Given the description of an element on the screen output the (x, y) to click on. 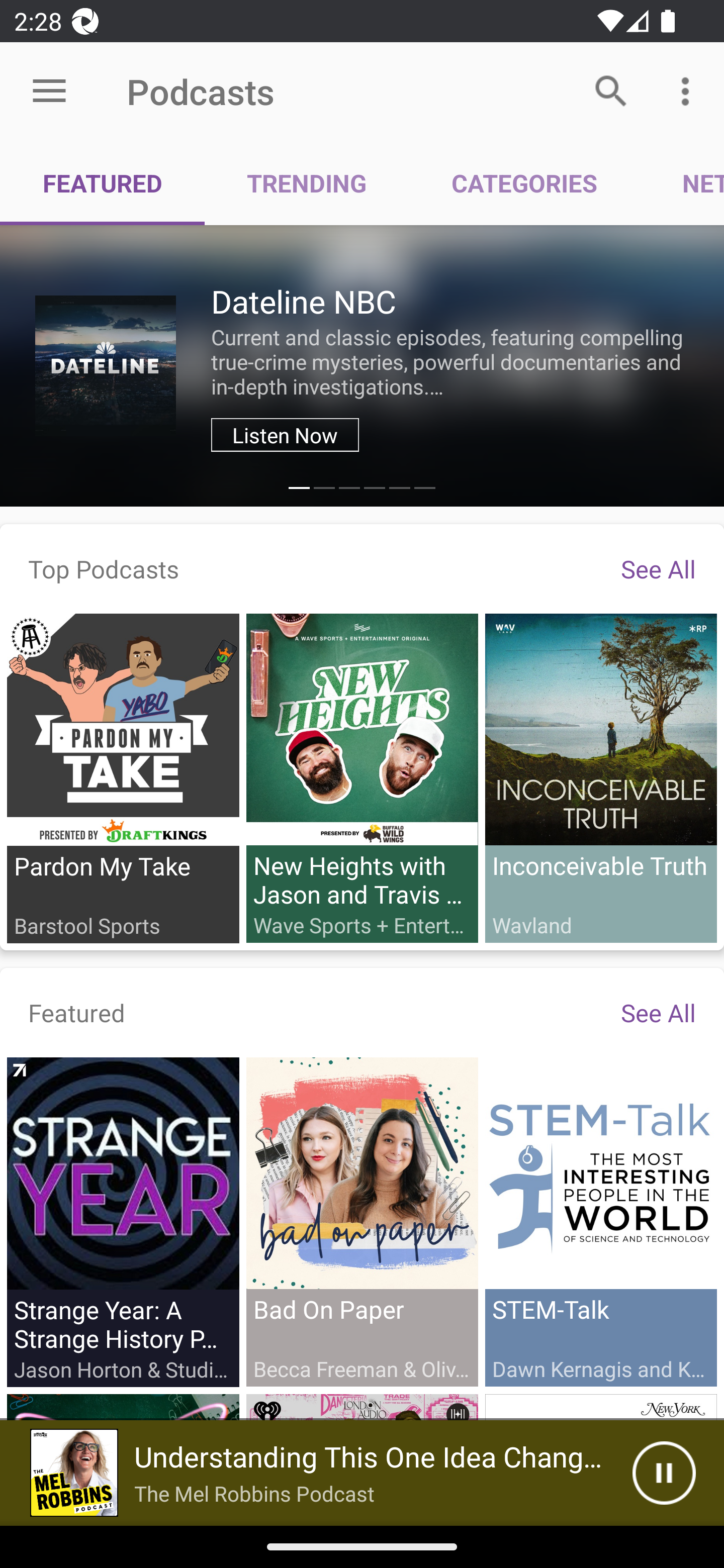
Open menu (49, 91)
Search (611, 90)
More options (688, 90)
FEATURED (102, 183)
TRENDING (306, 183)
CATEGORIES (524, 183)
Top Podcasts (103, 567)
See All (658, 567)
Pardon My Take Barstool Sports (123, 778)
Inconceivable Truth Wavland (600, 777)
Featured (76, 1011)
See All (658, 1011)
Bad On Paper Becca Freeman & Olivia Muenter (361, 1221)
STEM-Talk Dawn Kernagis and Ken Ford (600, 1221)
Pause (663, 1472)
